Given the description of an element on the screen output the (x, y) to click on. 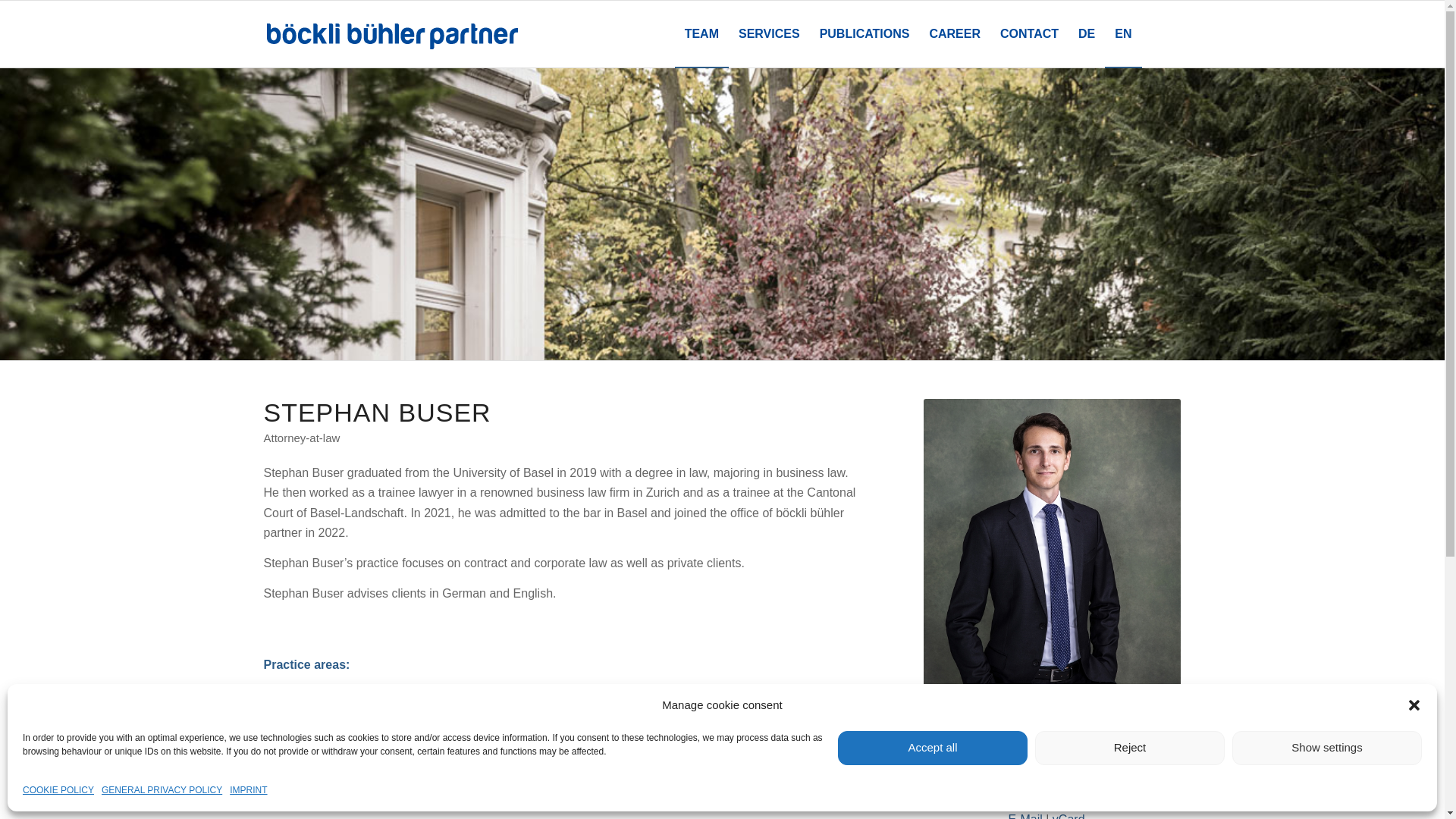
Accept all Element type: text (932, 748)
SERVICES Element type: text (768, 33)
EN Element type: text (1122, 33)
CAREER Element type: text (954, 33)
TEAM Element type: text (701, 33)
Arts and Culture Element type: text (307, 734)
COOKIE POLICY Element type: text (58, 790)
Reject Element type: text (1129, 748)
IMPRINT Element type: text (247, 790)
Show settings Element type: text (1326, 748)
DE Element type: text (1086, 33)
CONTACT Element type: text (1029, 33)
Corporations and Contracts Element type: text (337, 694)
GENERAL PRIVACY POLICY Element type: text (161, 790)
PUBLICATIONS Element type: text (864, 33)
Trusts and Estates Element type: text (313, 714)
